Given the description of an element on the screen output the (x, y) to click on. 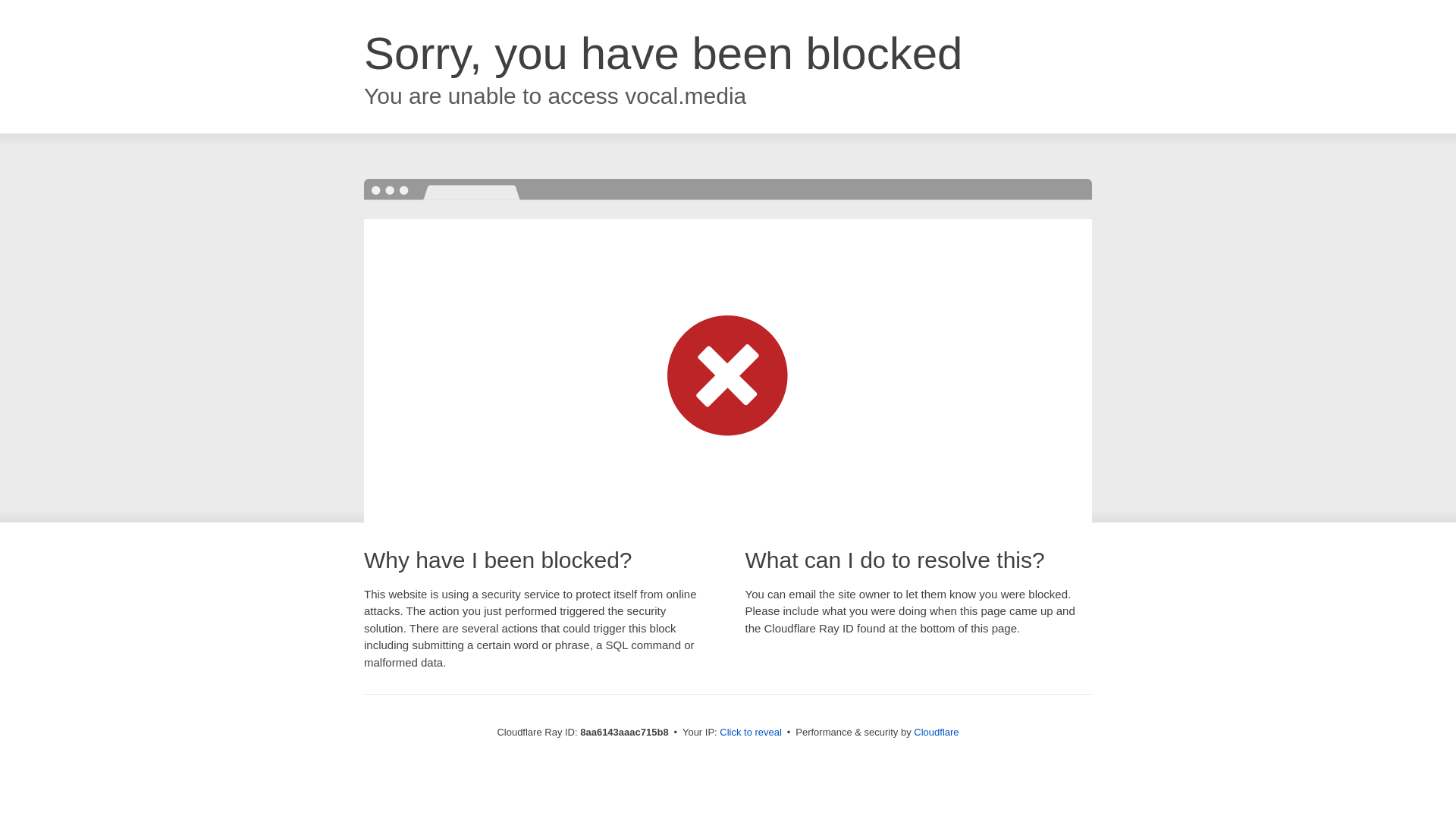
Cloudflare (936, 731)
Click to reveal (750, 732)
